Given the description of an element on the screen output the (x, y) to click on. 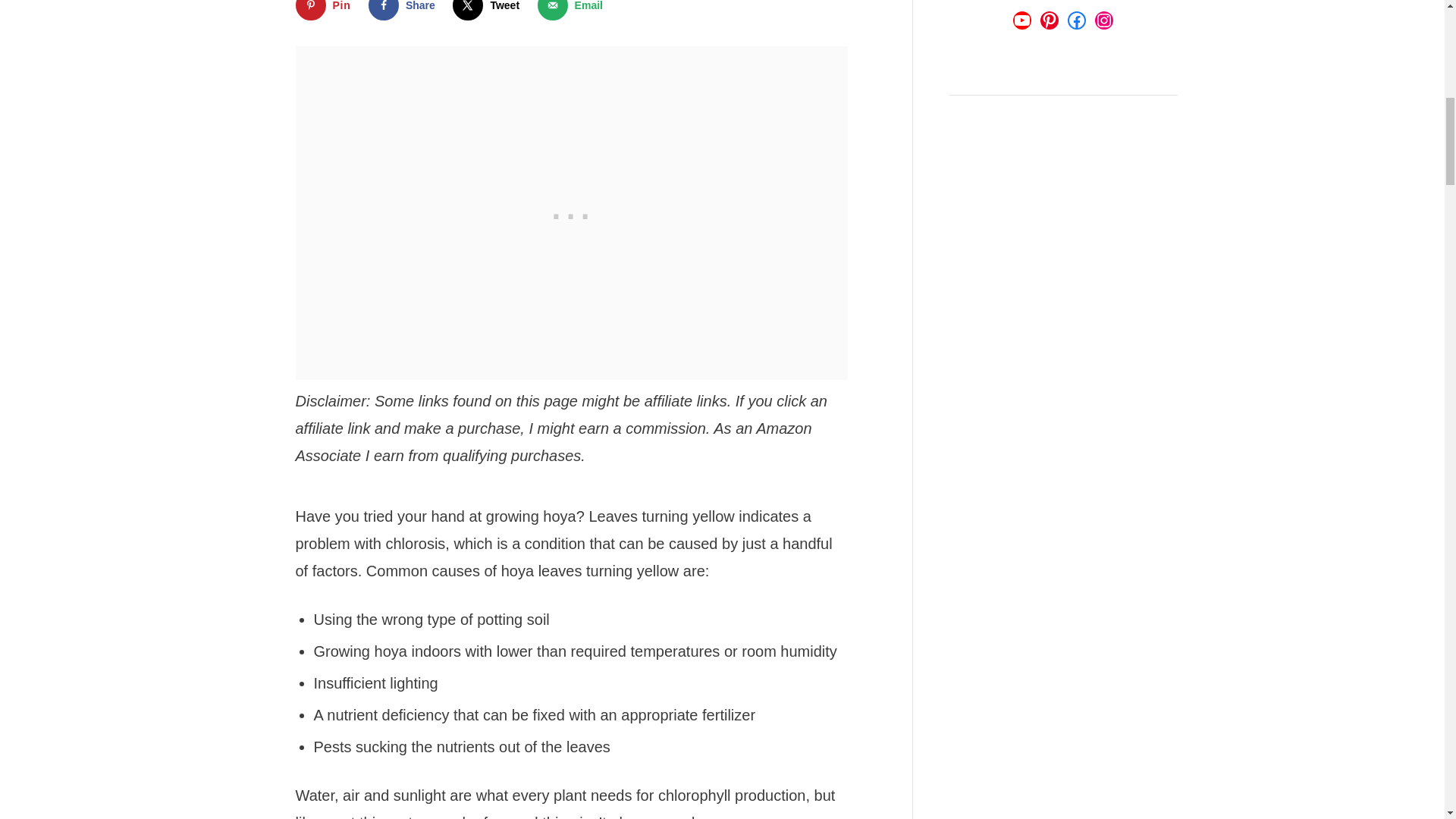
Pin (326, 10)
Send over email (573, 10)
Share on X (488, 10)
Save to Pinterest (326, 10)
Share on Facebook (405, 10)
